Given the description of an element on the screen output the (x, y) to click on. 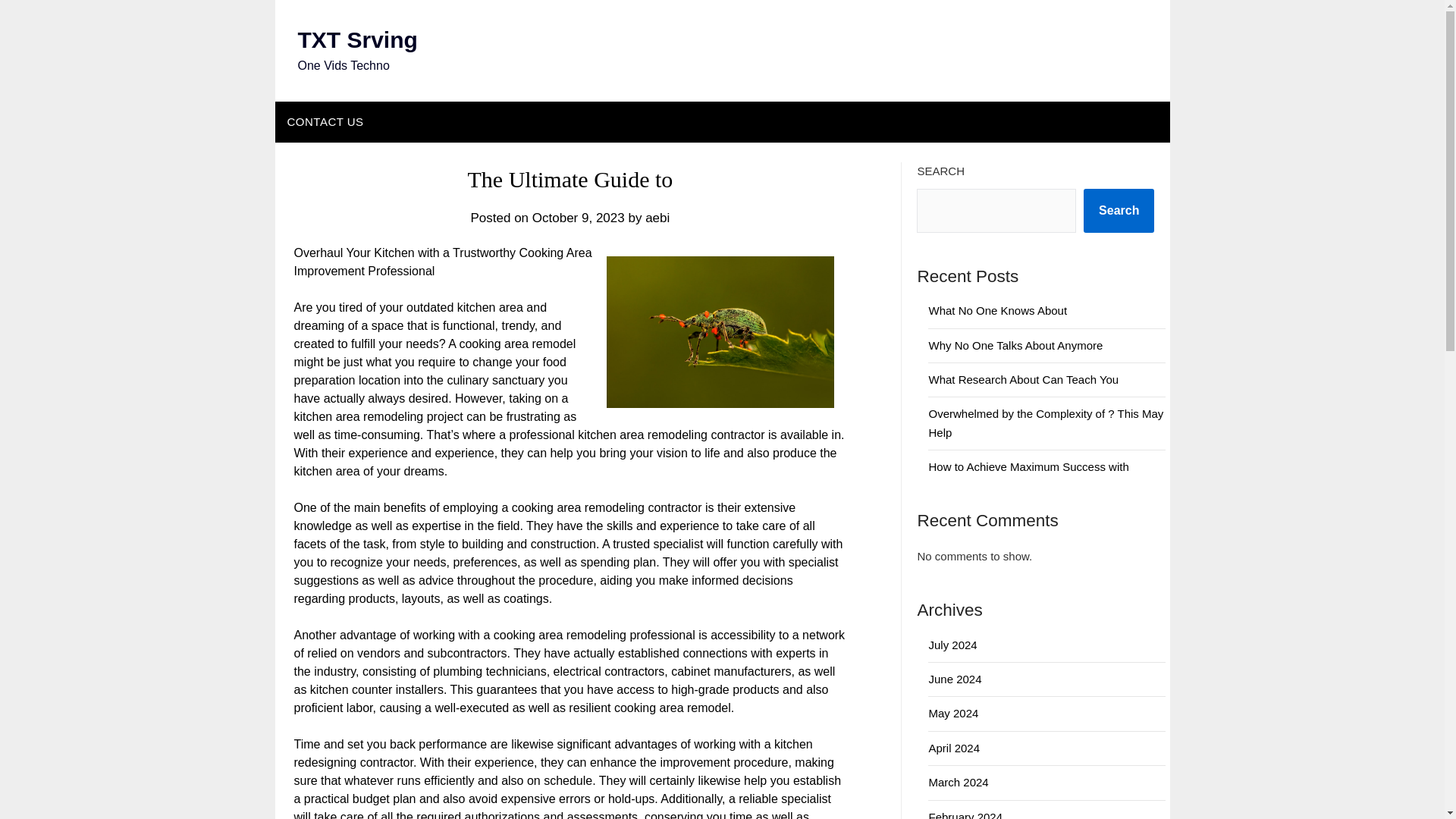
October 9, 2023 (578, 217)
May 2024 (953, 712)
What Research About Can Teach You (1023, 379)
What No One Knows About (997, 309)
March 2024 (958, 781)
TXT Srving (356, 39)
aebi (657, 217)
Overwhelmed by the Complexity of ? This May Help (1045, 422)
CONTACT US (325, 121)
Why No One Talks About Anymore (1015, 345)
April 2024 (953, 748)
February 2024 (965, 814)
Search (1118, 210)
How to Achieve Maximum Success with (1028, 466)
June 2024 (954, 678)
